Given the description of an element on the screen output the (x, y) to click on. 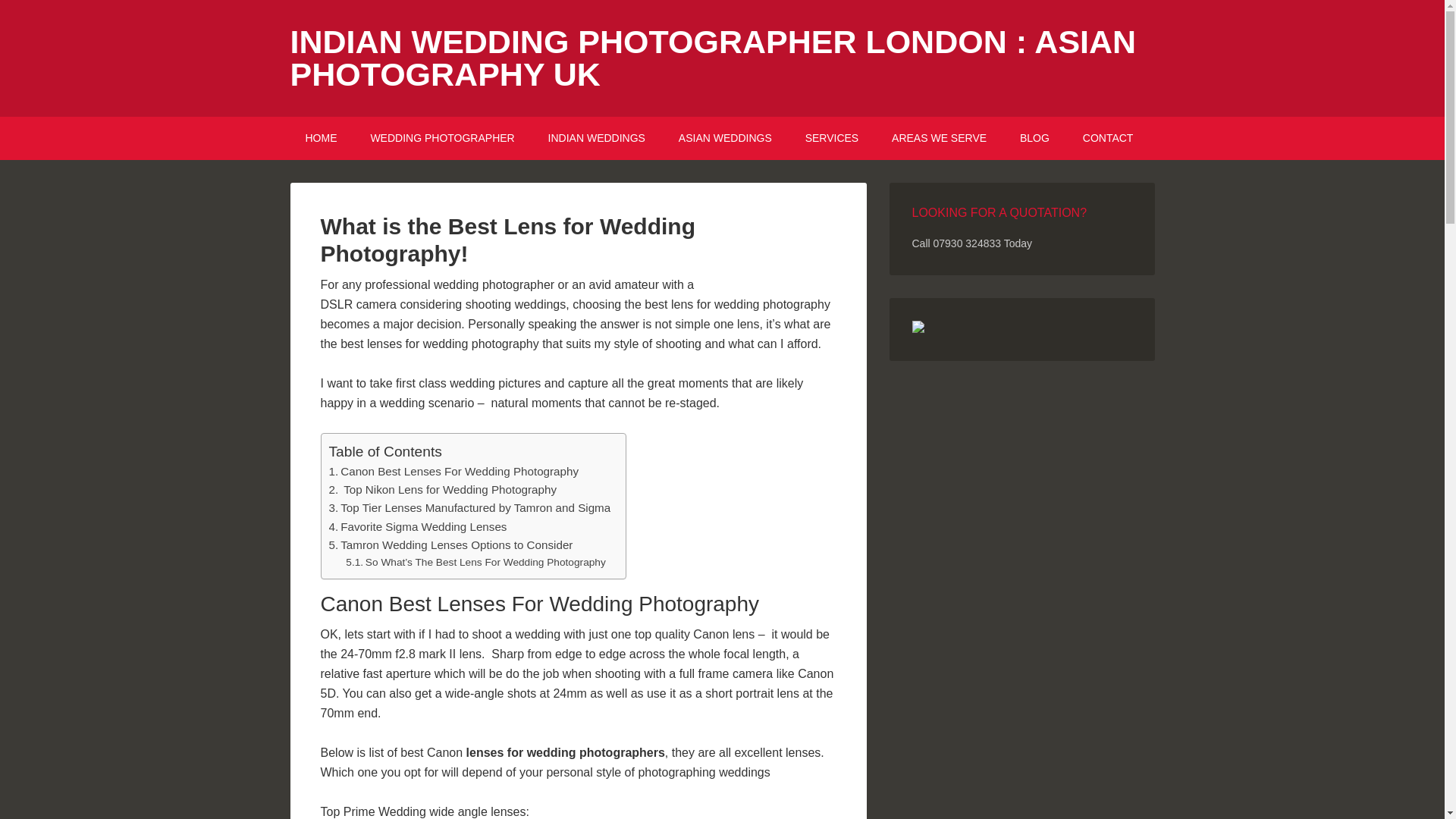
Canon Best Lenses For Wedding Photography (454, 471)
Top Tier Lenses Manufactured by Tamron and Sigma (470, 507)
ASIAN WEDDINGS (725, 138)
SERVICES (832, 138)
Tamron Wedding Lenses Options to Consider (451, 545)
WEDDING PHOTOGRAPHER (442, 138)
INDIAN WEDDINGS (596, 138)
Canon Best Lenses For Wedding Photography (454, 471)
HOME (320, 138)
CONTACT (1107, 138)
BLOG (1034, 138)
Top Tier Lenses Manufactured by Tamron and Sigma (470, 507)
INDIAN WEDDING PHOTOGRAPHER LONDON : ASIAN PHOTOGRAPHY UK (712, 57)
